Given the description of an element on the screen output the (x, y) to click on. 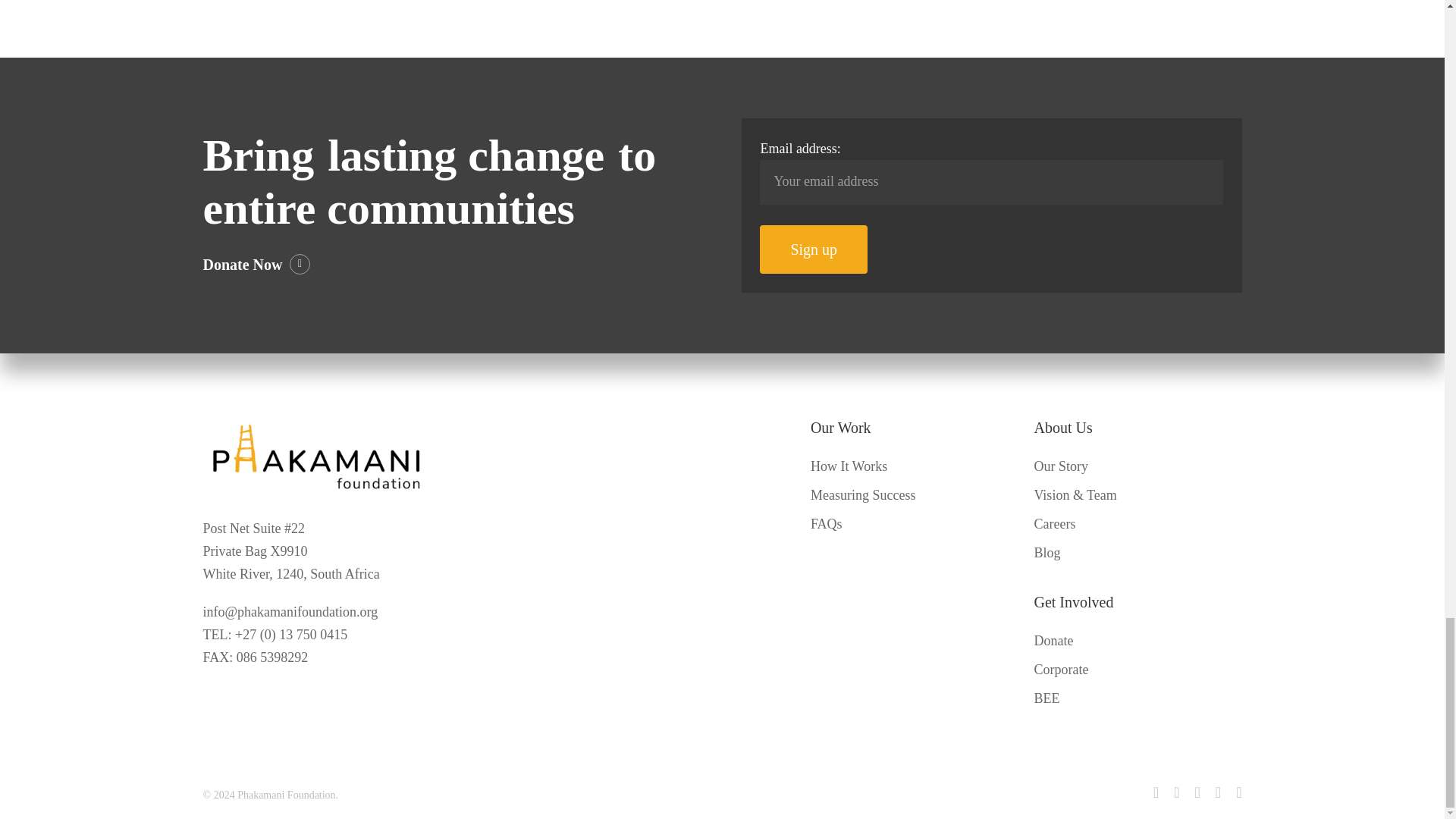
Sign up (813, 249)
